Given the description of an element on the screen output the (x, y) to click on. 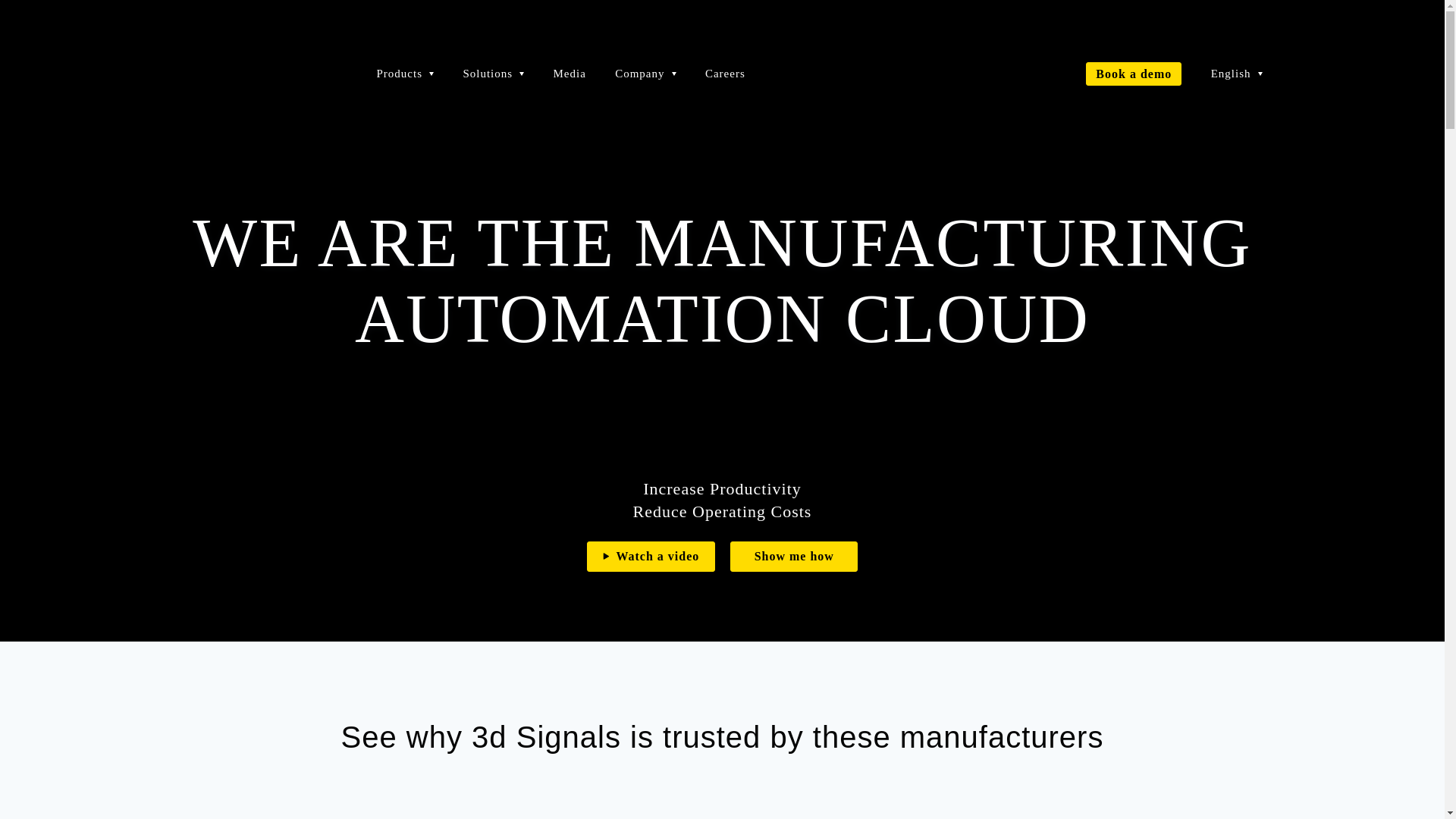
Solutions (493, 72)
Media (569, 72)
Careers (724, 72)
Company (644, 72)
Book a demo (1133, 73)
English (1236, 72)
Products (404, 72)
